Given the description of an element on the screen output the (x, y) to click on. 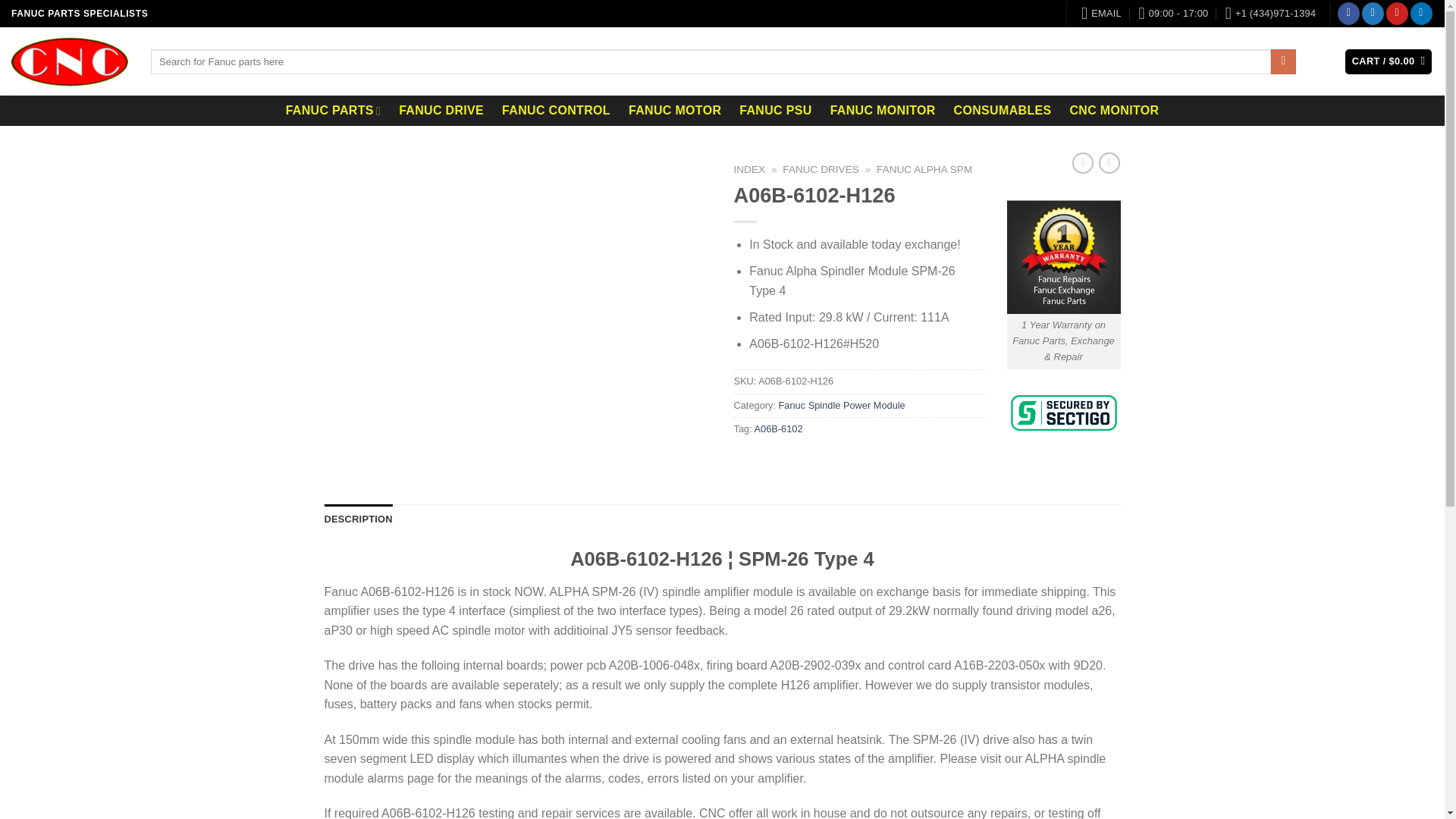
CNC - Fanuc parts specialists (69, 61)
CONSUMABLES (1002, 110)
FANUC DRIVE (441, 110)
Fanuc parts (333, 110)
Follow on Pinterest (1396, 13)
FANUC MOTOR (675, 110)
FANUC CONTROL (556, 110)
09:00 - 17:00 (1173, 13)
CNC MONITOR (1113, 110)
EMAIL (1101, 13)
